Given the description of an element on the screen output the (x, y) to click on. 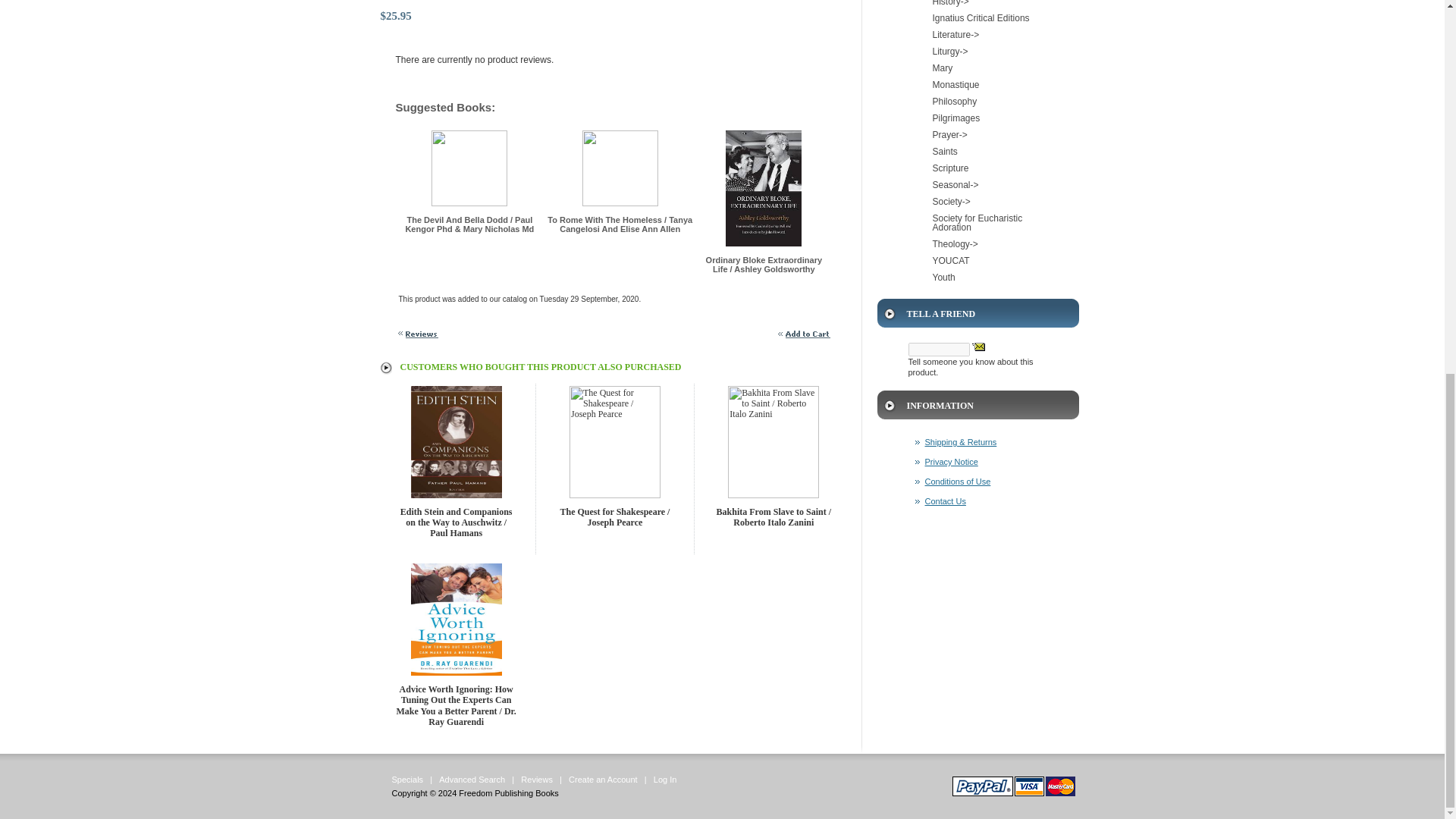
 Tell A Friend  (978, 346)
Ignatius Critical Editions (977, 17)
 Add to Cart  (805, 334)
 Reviews  (419, 334)
Description (615, 10)
